Given the description of an element on the screen output the (x, y) to click on. 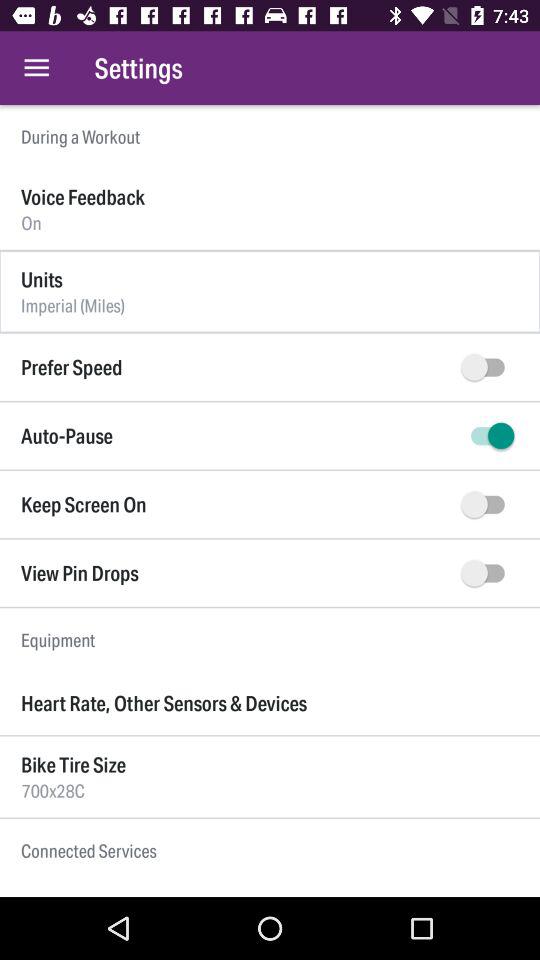
toggle view pin drops (487, 573)
